Given the description of an element on the screen output the (x, y) to click on. 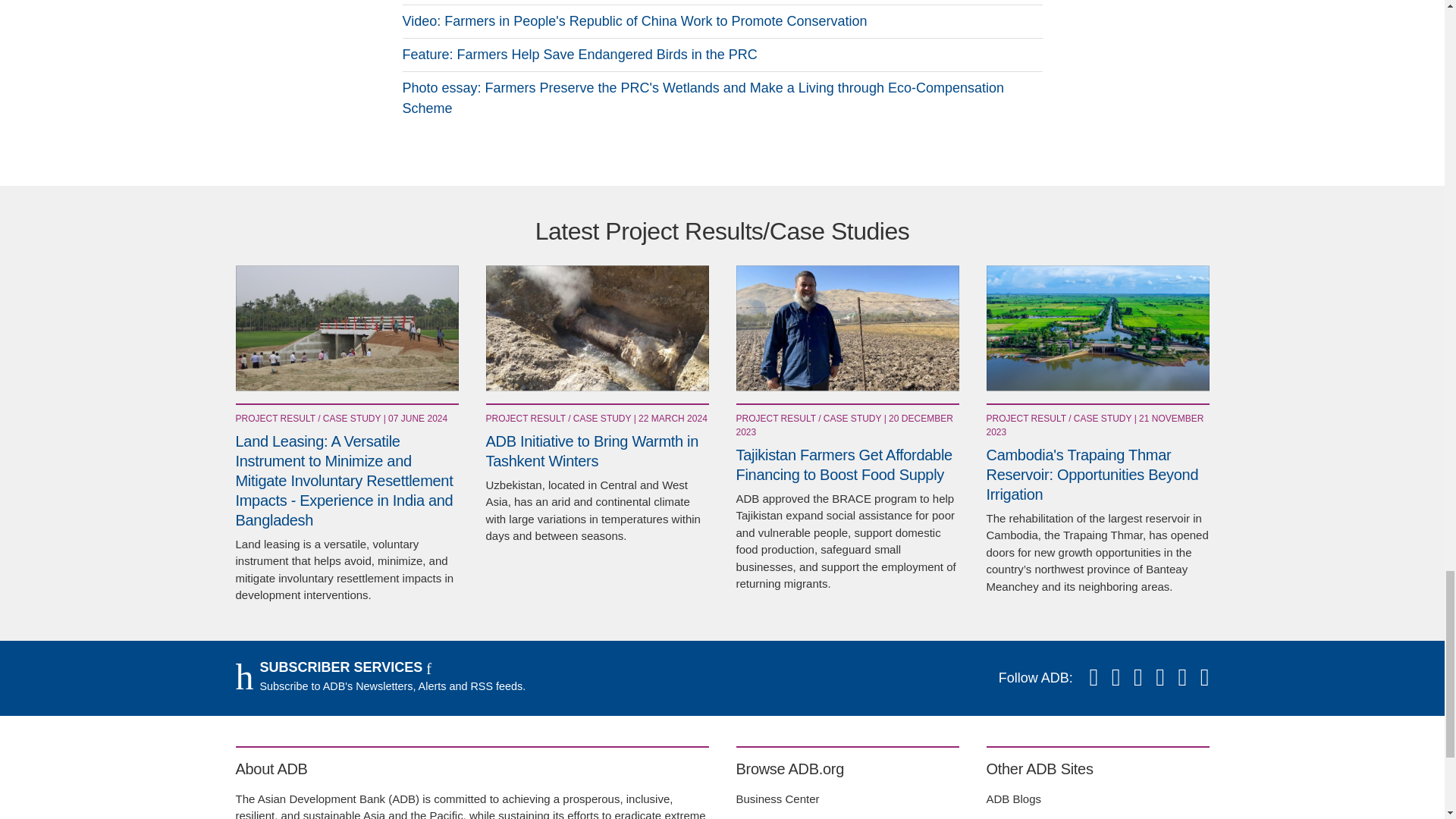
ADB Initiative to Bring Warmth in Tashkent Winters (595, 327)
